Given the description of an element on the screen output the (x, y) to click on. 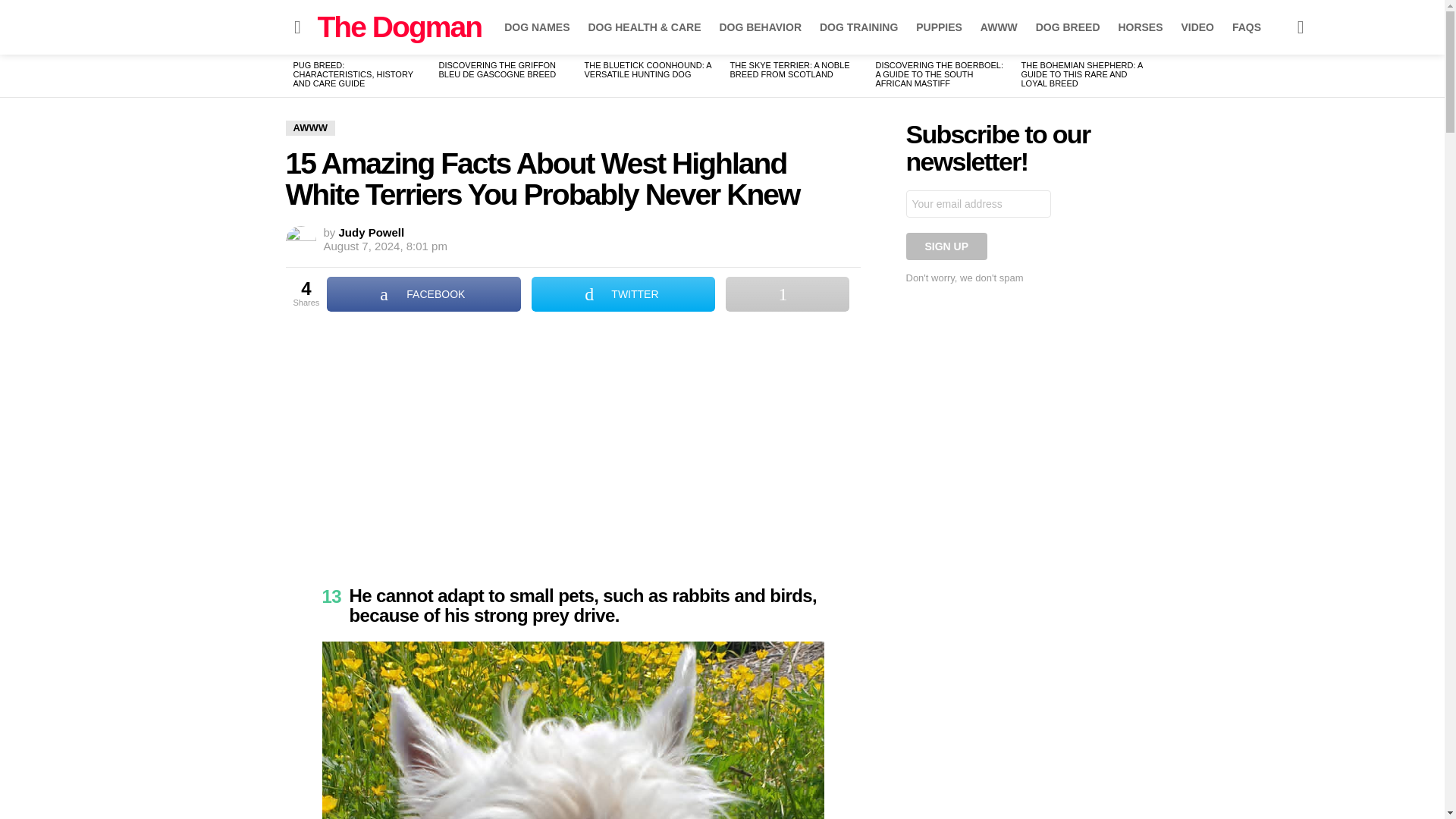
THE BOHEMIAN SHEPHERD: A GUIDE TO THIS RARE AND LOYAL BREED (1080, 73)
FACEBOOK (423, 294)
HORSES (1139, 26)
TWITTER (622, 294)
The Dogman (399, 26)
PUG BREED: CHARACTERISTICS, HISTORY AND CARE GUIDE (352, 73)
Share on Facebook (423, 294)
THE BLUETICK COONHOUND: A VERSATILE HUNTING DOG (646, 69)
